Given the description of an element on the screen output the (x, y) to click on. 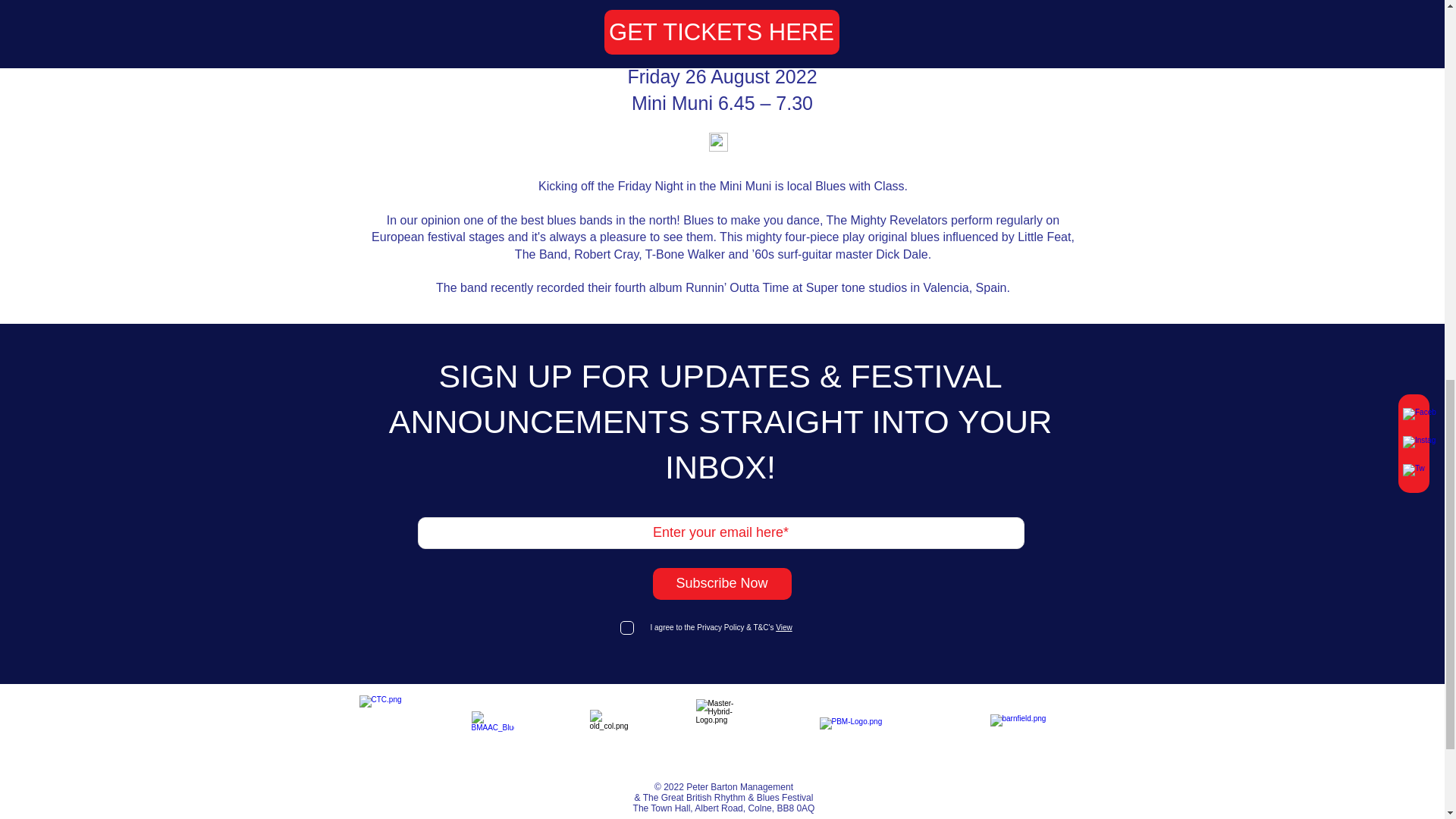
GET TICKETS HERE! (440, 5)
Subscribe Now (721, 583)
View (782, 627)
BACK TO LINE UP (1026, 5)
